Given the description of an element on the screen output the (x, y) to click on. 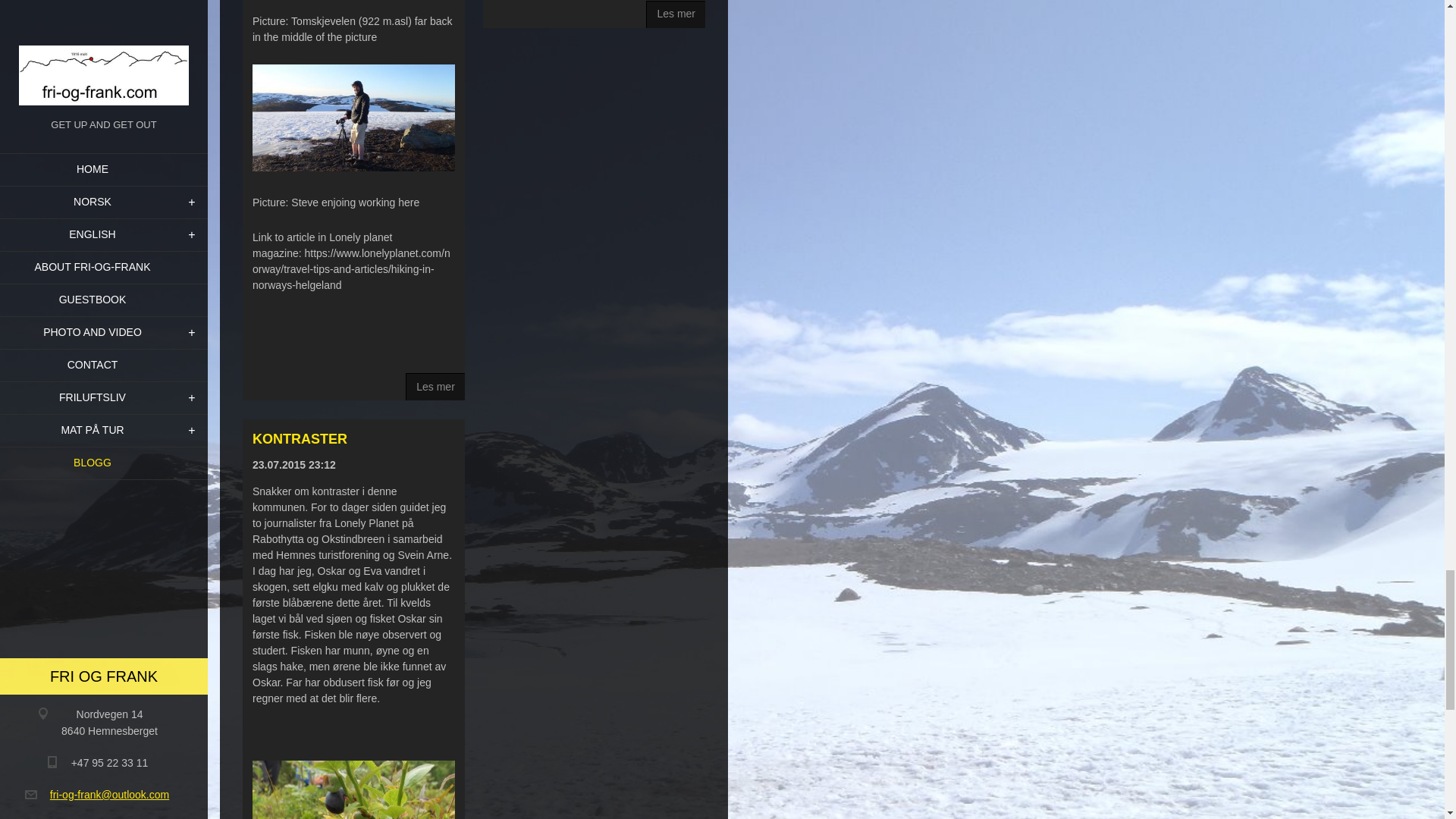
Se hele artikkelen. (435, 386)
Se hele artikkelen. (675, 13)
